Given the description of an element on the screen output the (x, y) to click on. 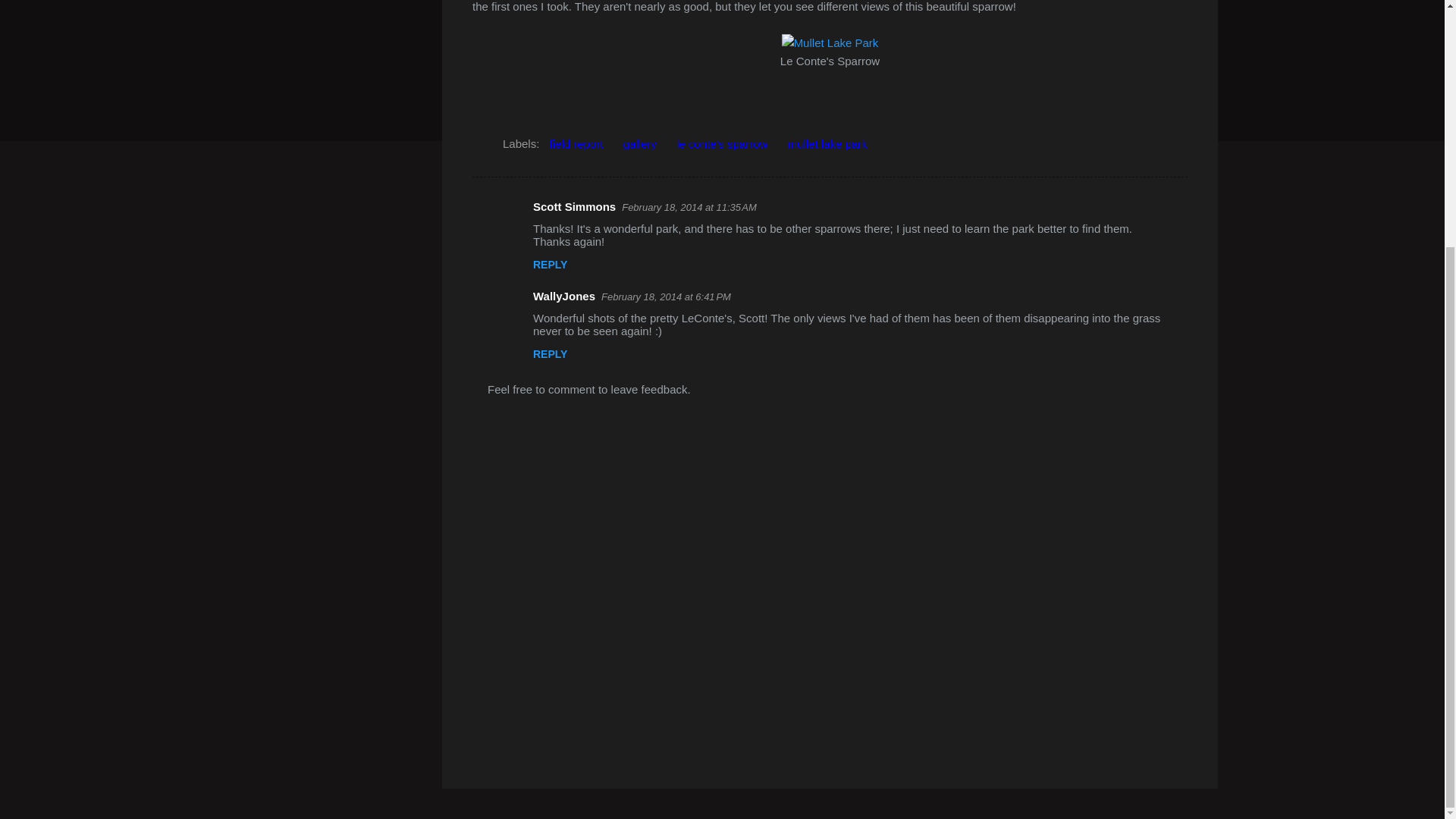
Mullet Lake Park (830, 42)
REPLY (549, 354)
Scott Simmons (573, 205)
gallery (639, 143)
Mullet Lake Park (830, 42)
le conte's sparrow (721, 143)
field report (576, 143)
mullet lake park (827, 143)
